Given the description of an element on the screen output the (x, y) to click on. 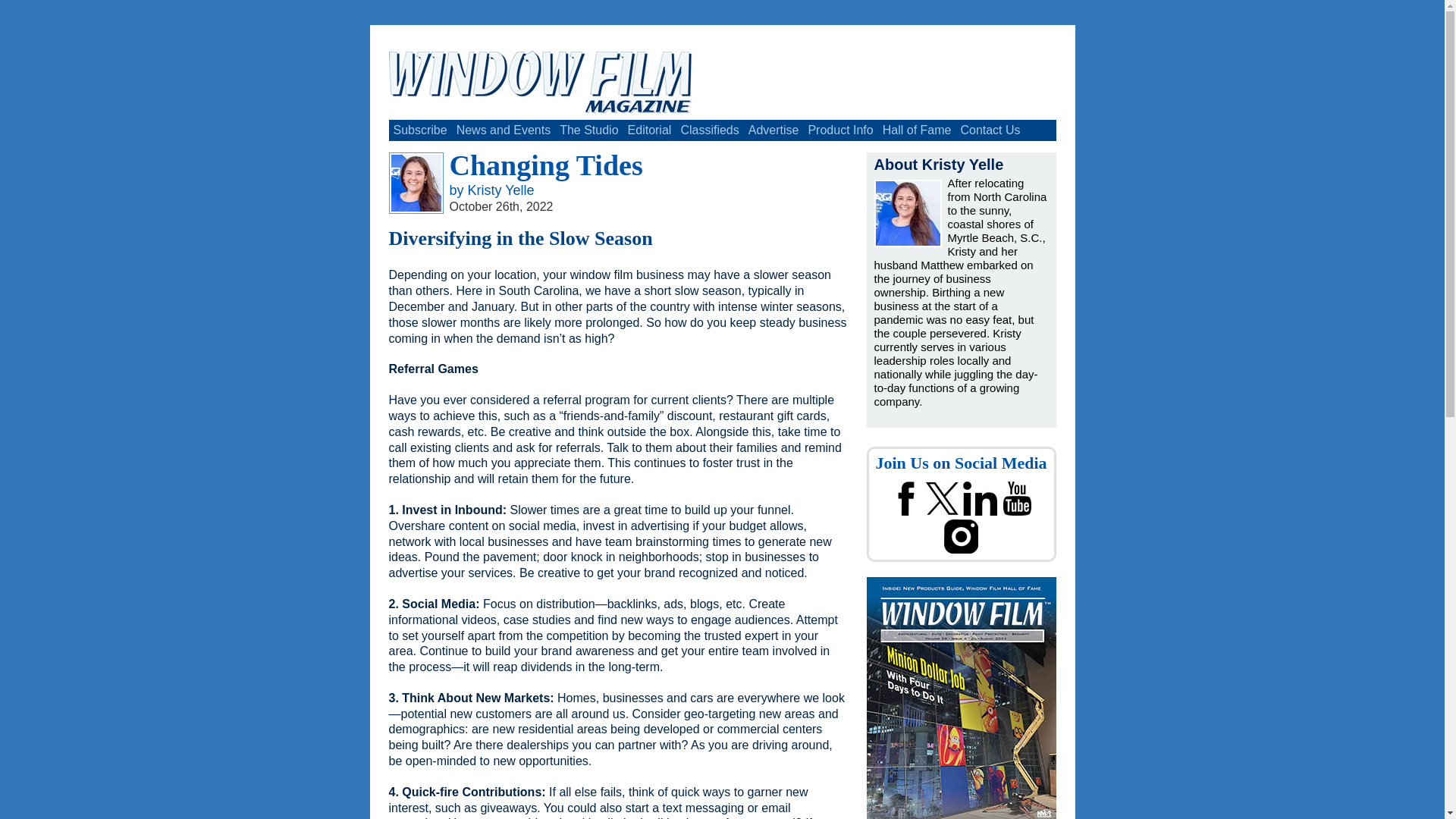
Subscribe (419, 129)
Advertise (773, 129)
Hall of Fame (916, 129)
Changing Tides (545, 164)
Contact Us (990, 129)
Product Info (840, 129)
The Studio (588, 129)
Classifieds (708, 129)
News and Events (503, 129)
Editorial (650, 129)
